Given the description of an element on the screen output the (x, y) to click on. 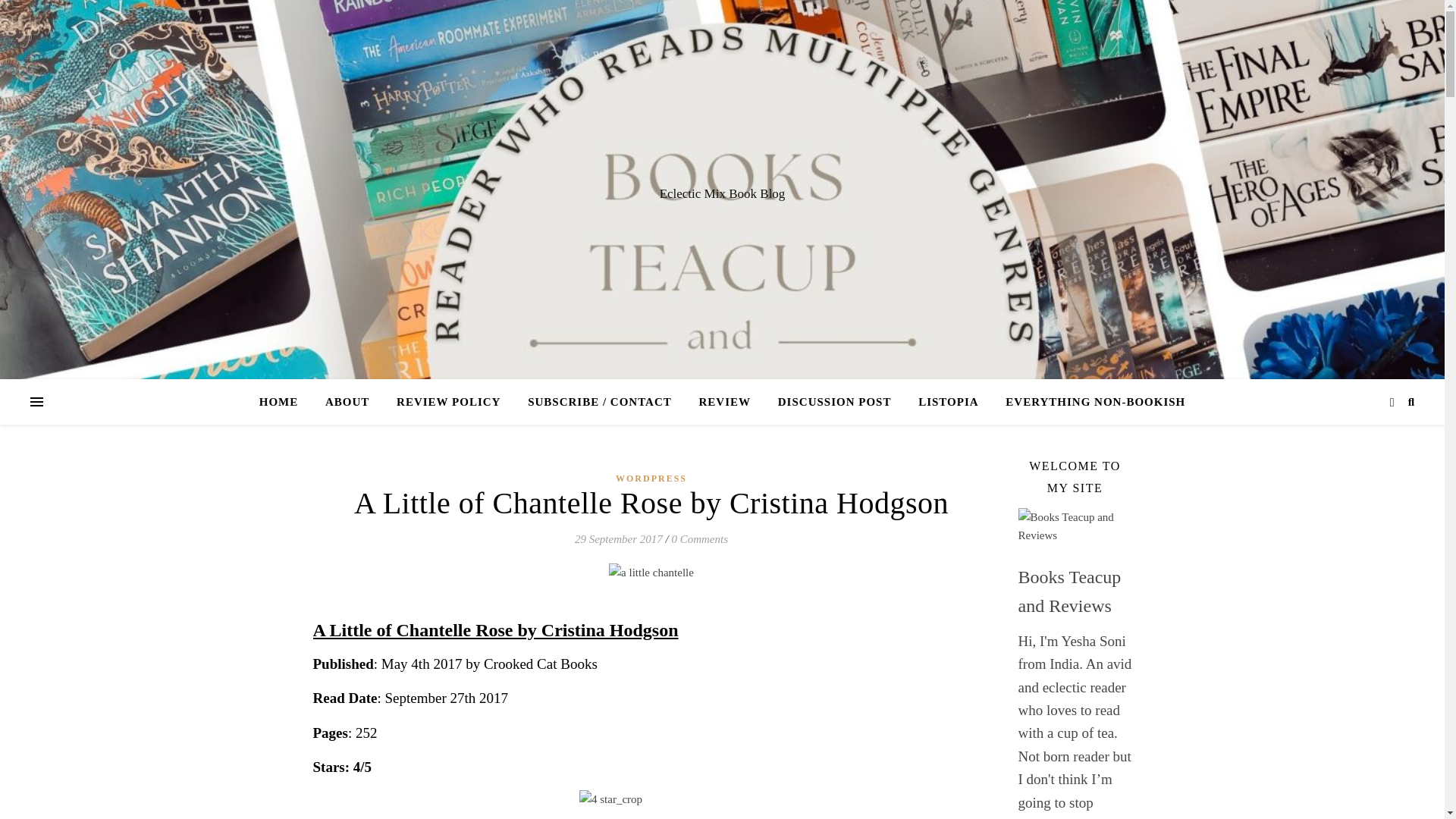
REVIEW POLICY (448, 402)
DISCUSSION POST (834, 402)
LISTOPIA (947, 402)
EVERYTHING NON-BOOKISH (1088, 402)
ABOUT (347, 402)
REVIEW (724, 402)
HOME (285, 402)
